Given the description of an element on the screen output the (x, y) to click on. 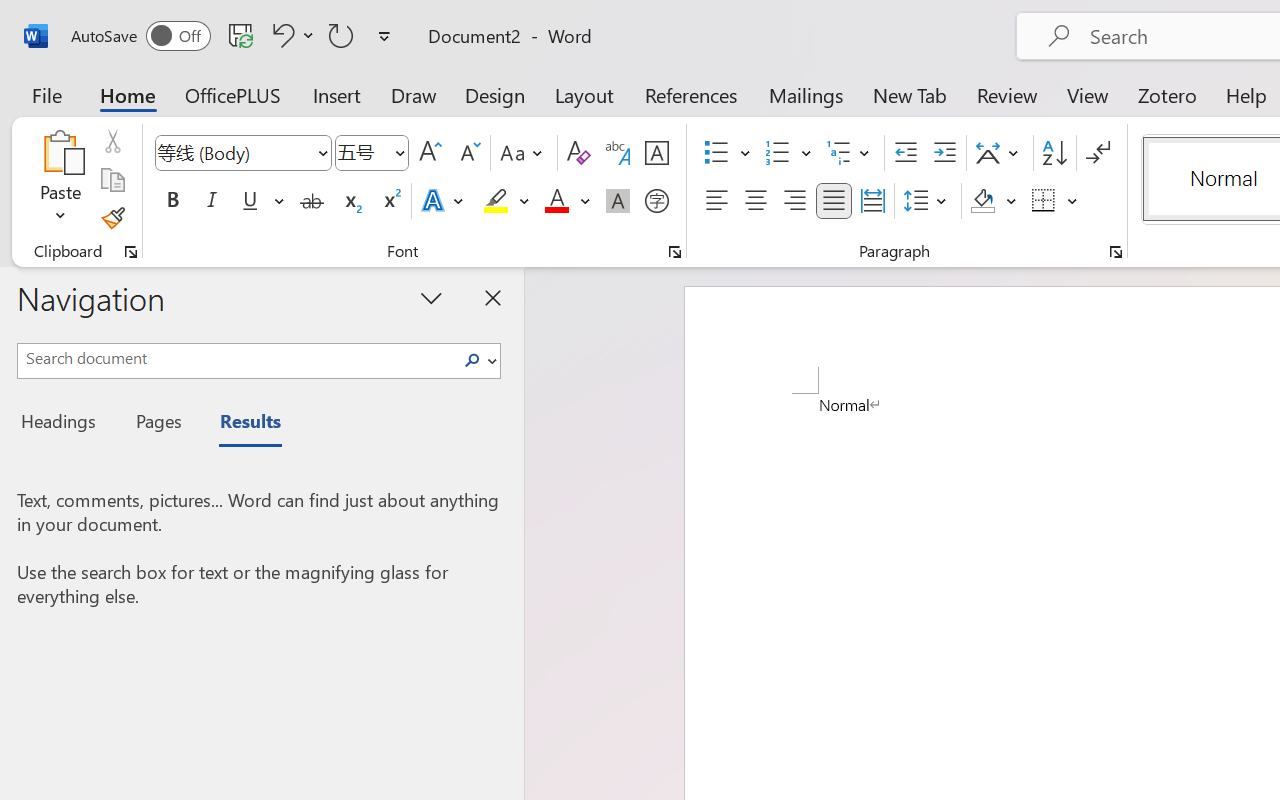
Font... (675, 252)
AutoSave (140, 35)
Align Left (716, 201)
Clear Formatting (578, 153)
Font Color (567, 201)
Strikethrough (312, 201)
Shrink Font (468, 153)
Design (495, 94)
Font Size (362, 152)
Increase Indent (944, 153)
Superscript (390, 201)
Change Case (524, 153)
More Options (1073, 201)
